Given the description of an element on the screen output the (x, y) to click on. 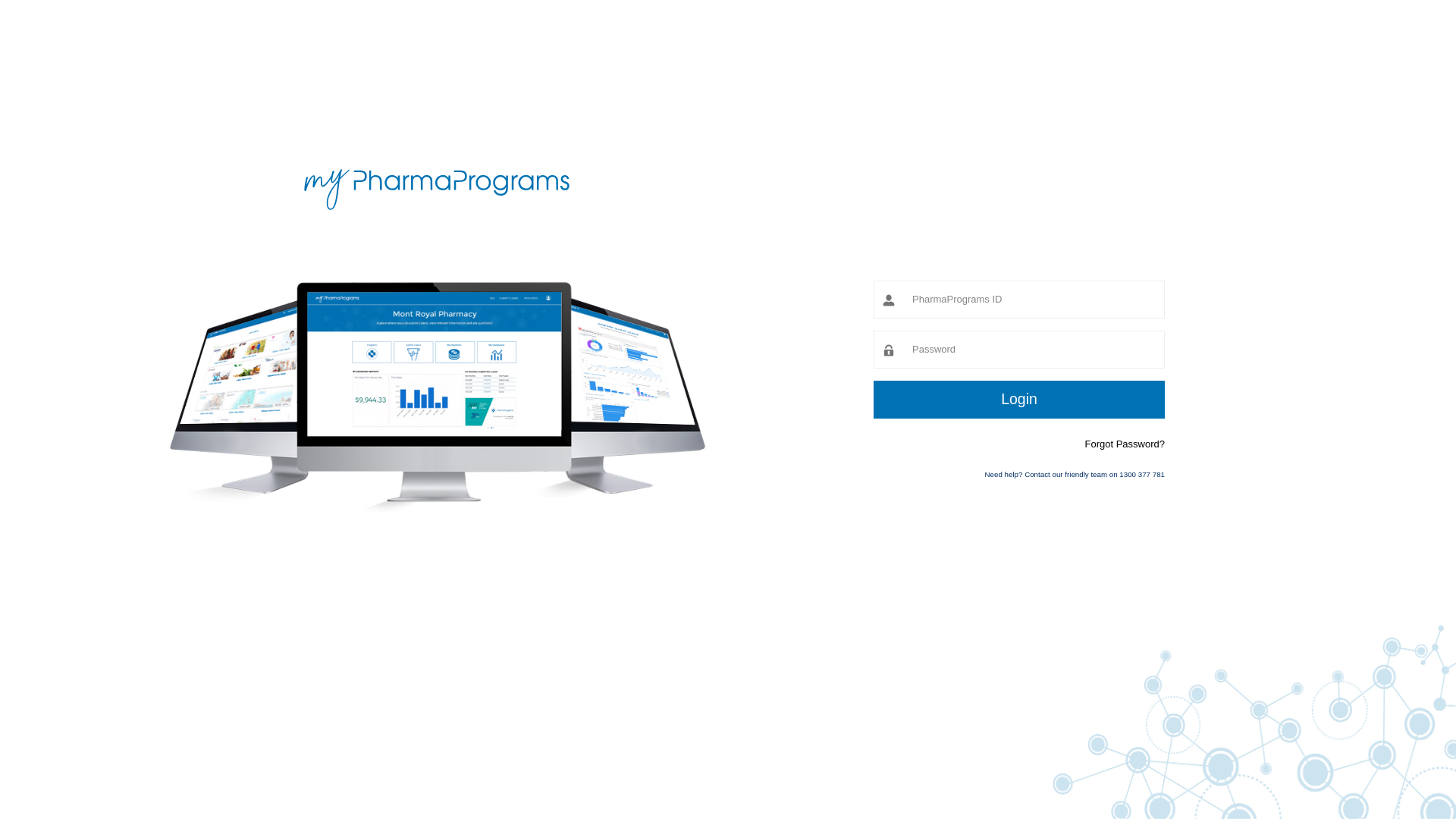
Forgot Password? Element type: text (1124, 443)
